Given the description of an element on the screen output the (x, y) to click on. 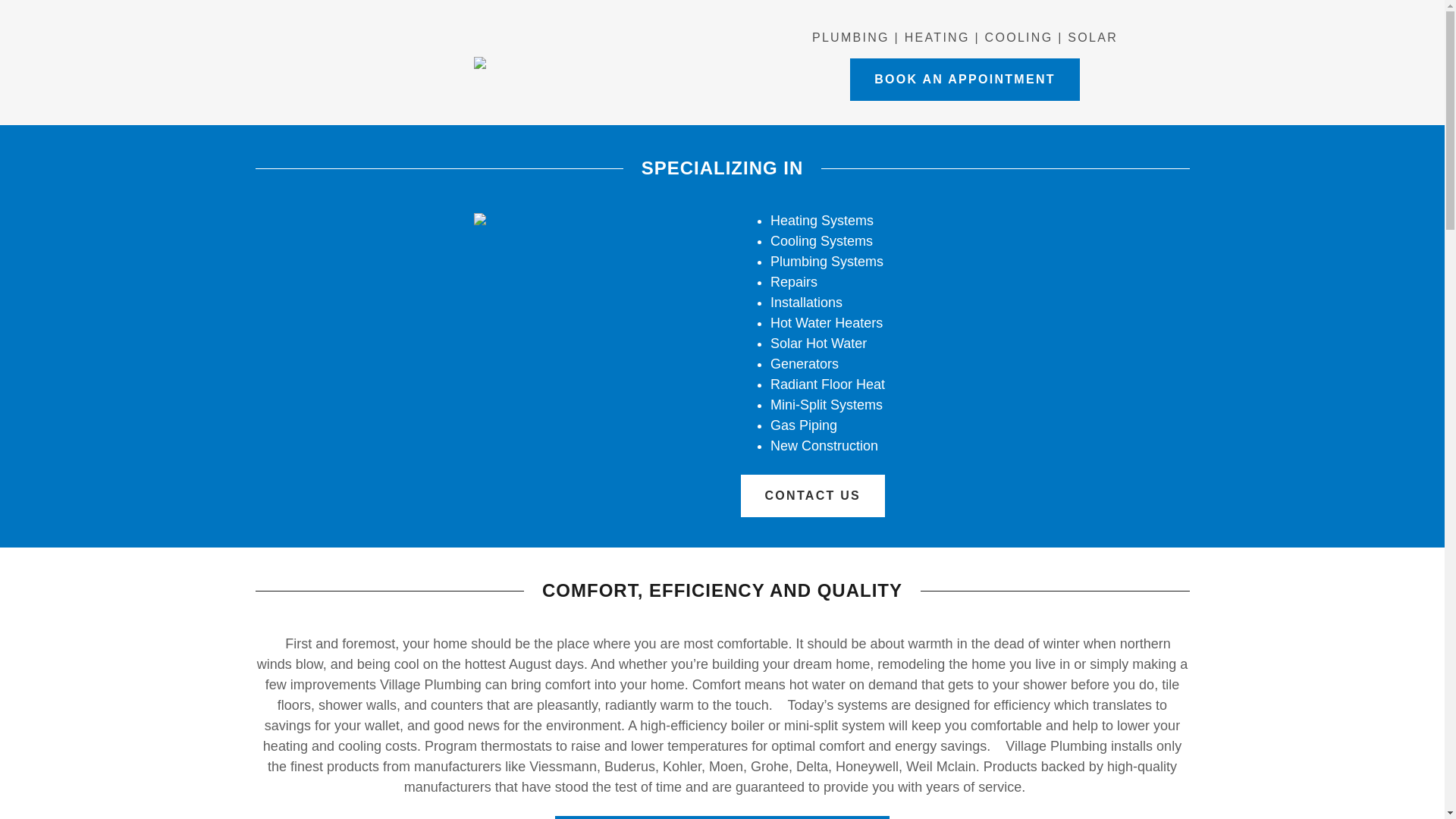
BOOK AN APPOINTMENT (965, 79)
CONTACT US (812, 495)
